Given the description of an element on the screen output the (x, y) to click on. 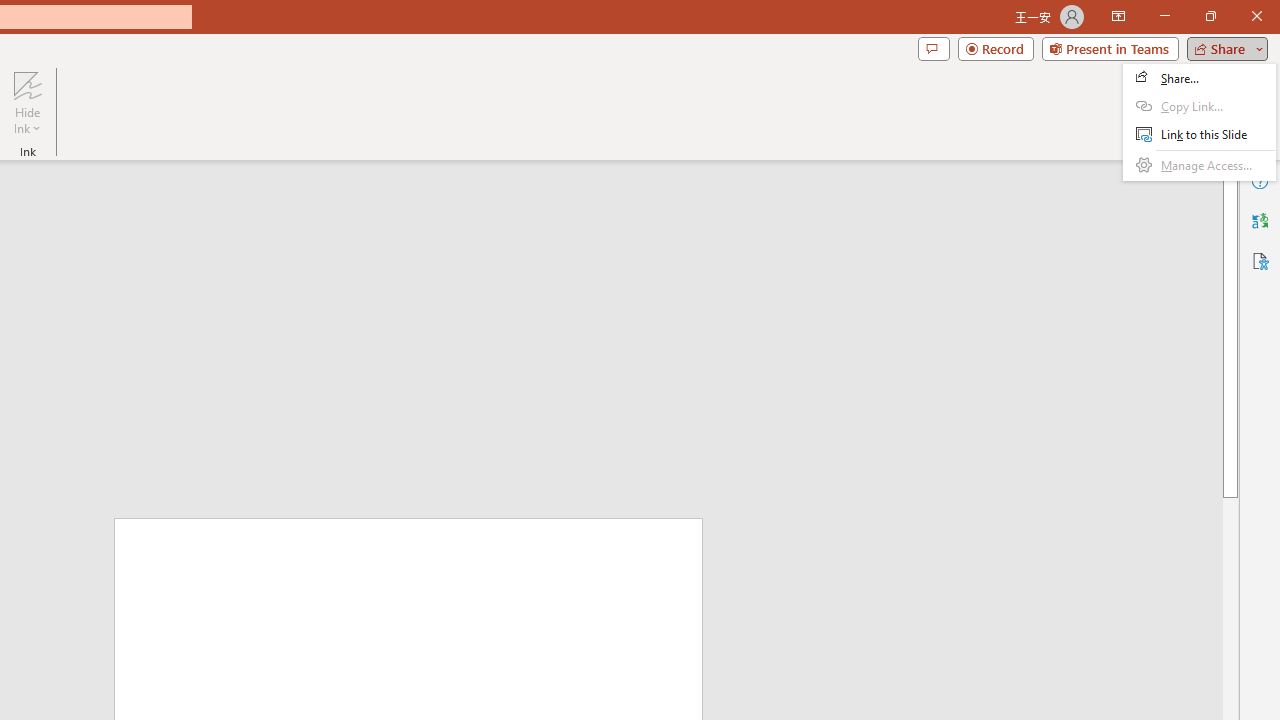
Translator (1260, 220)
Restore Down (1210, 16)
Accessibility (1260, 260)
Hide Ink (27, 102)
Hide Ink (27, 84)
